Given the description of an element on the screen output the (x, y) to click on. 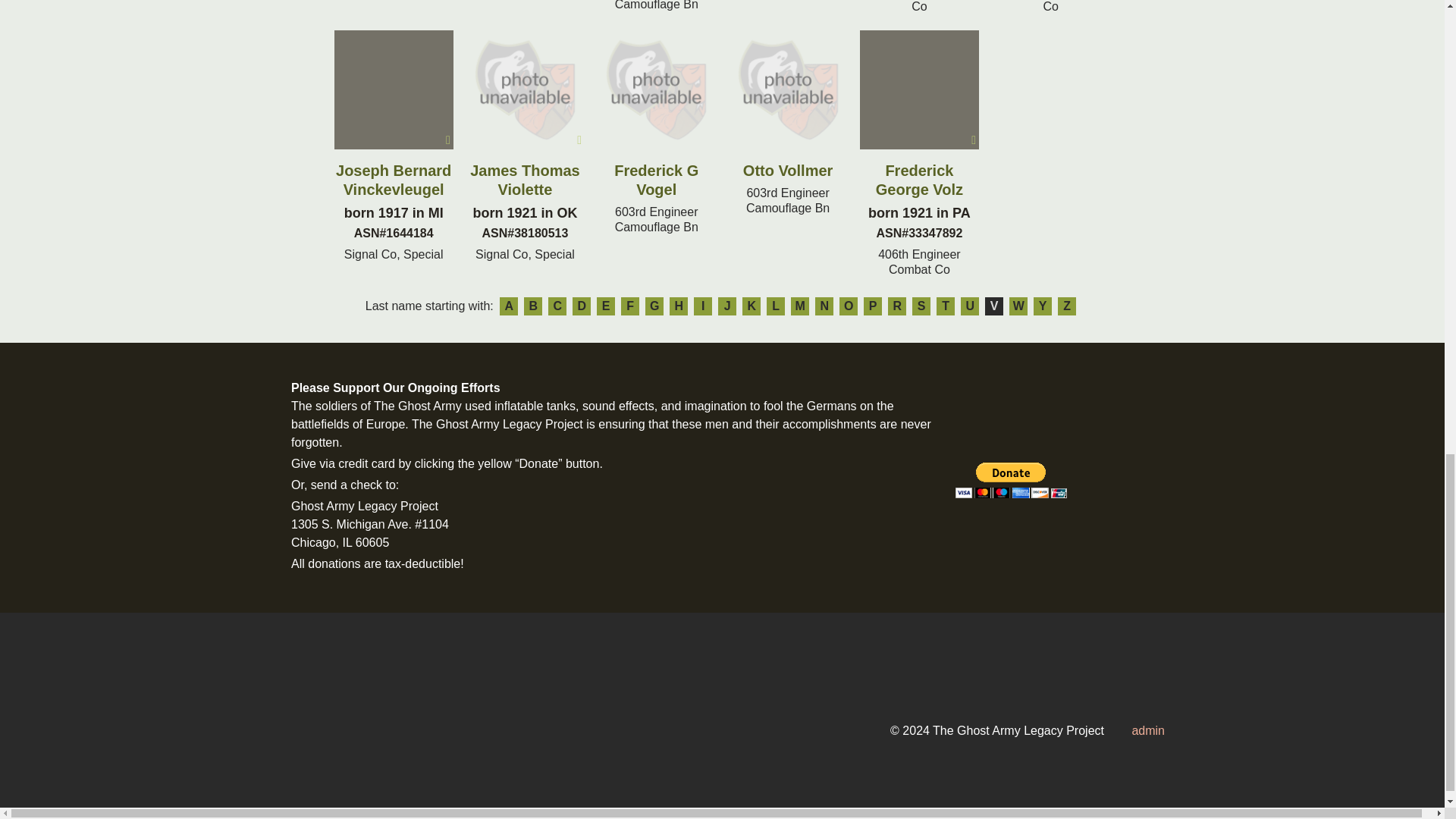
PayPal - The safer, easier way to pay online! (1011, 479)
